Given the description of an element on the screen output the (x, y) to click on. 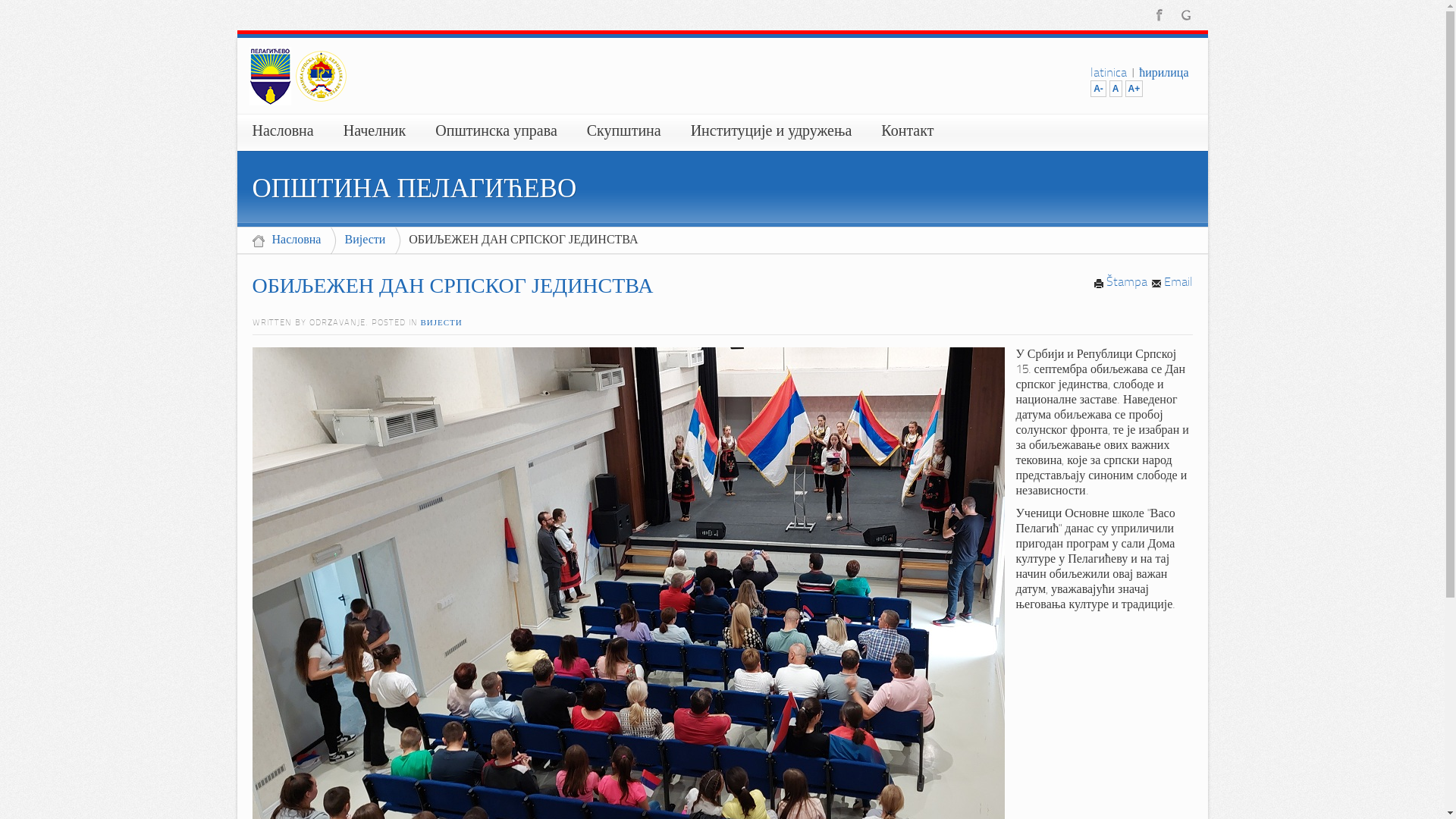
google+ Element type: hover (1185, 14)
A+ Element type: text (1134, 88)
A Element type: text (1115, 88)
latinica Element type: text (1108, 73)
A- Element type: text (1098, 88)
facebook Element type: hover (1158, 14)
Email Element type: text (1171, 282)
